Given the description of an element on the screen output the (x, y) to click on. 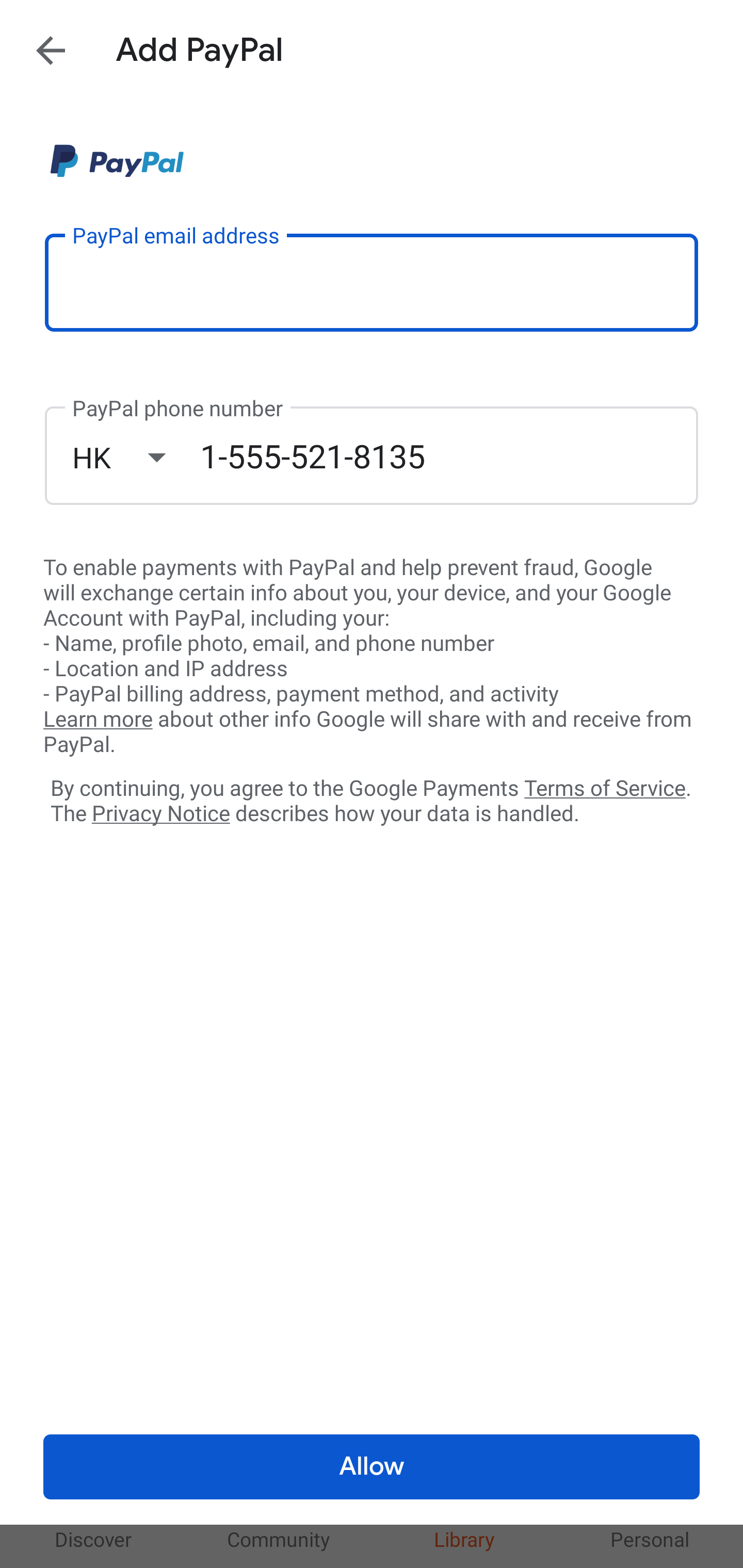
Navigate up (50, 50)
PayPal email address (371, 282)
HK (135, 456)
Learn more (97, 719)
Terms of Service (604, 787)
Privacy Notice (160, 814)
Allow (371, 1466)
